Given the description of an element on the screen output the (x, y) to click on. 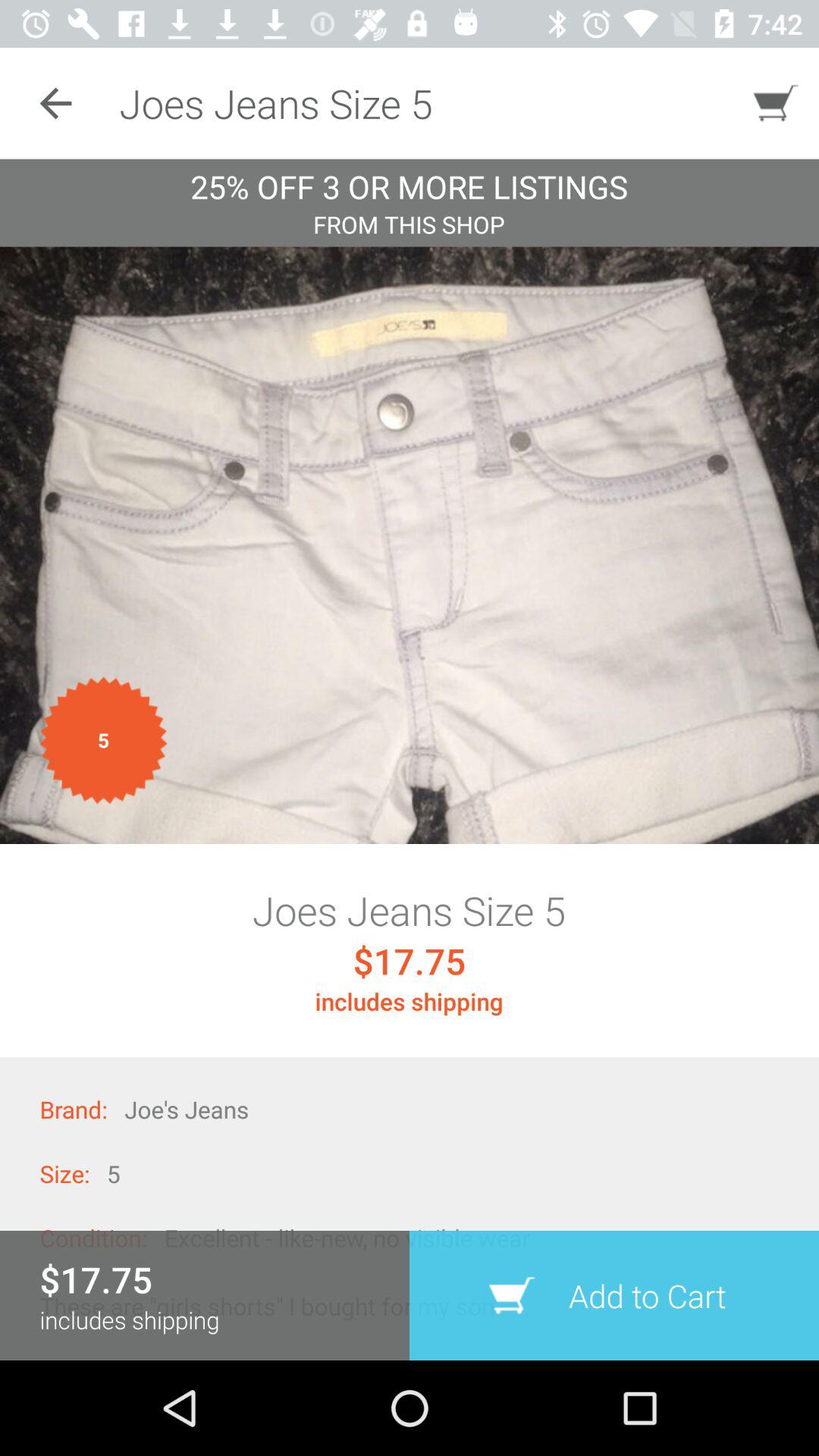
select the icon to the left of the joes jeans size icon (55, 103)
